Given the description of an element on the screen output the (x, y) to click on. 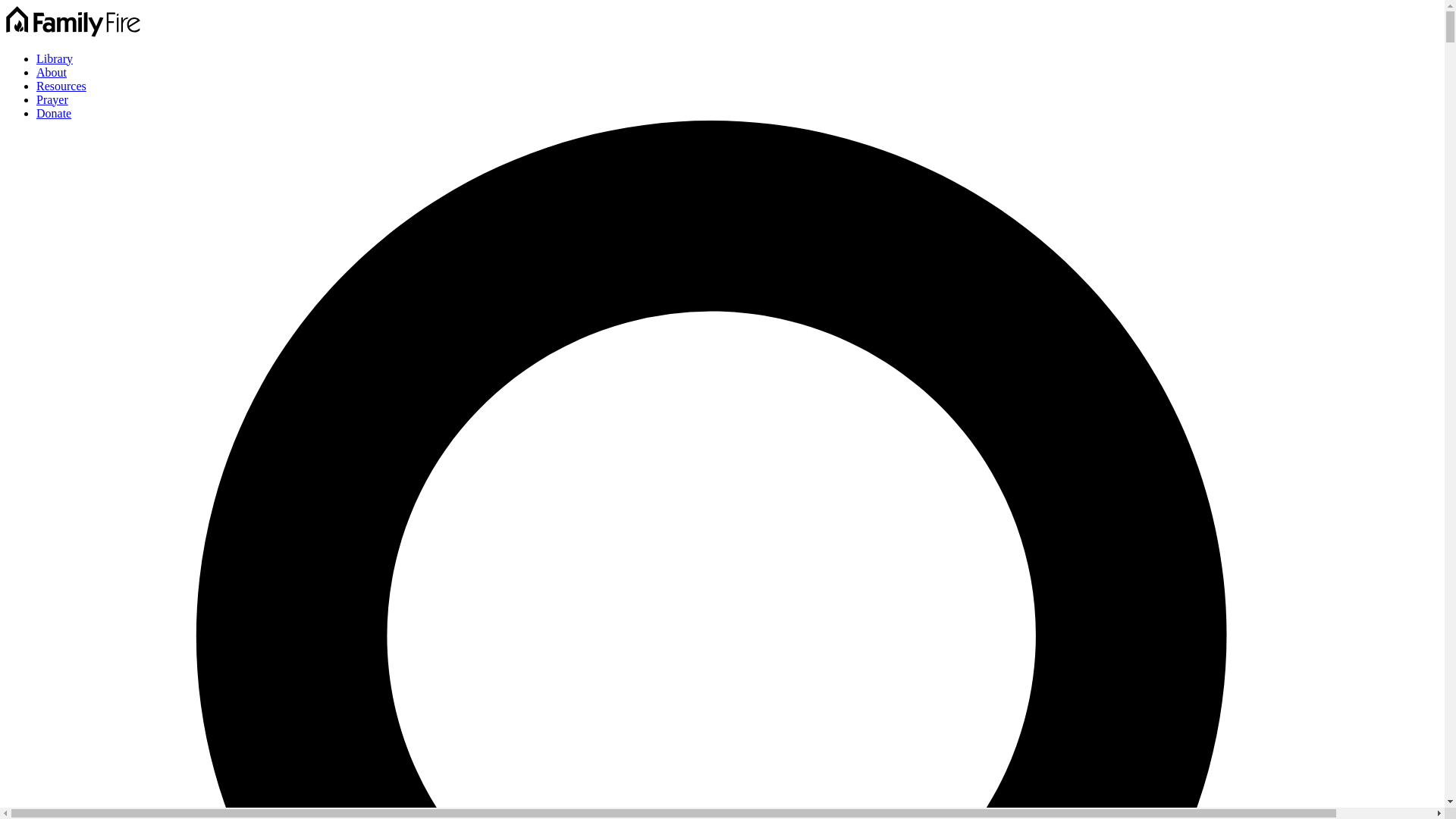
Resources (60, 85)
Donate (53, 113)
About (51, 72)
Prayer (52, 99)
Library (54, 58)
